Given the description of an element on the screen output the (x, y) to click on. 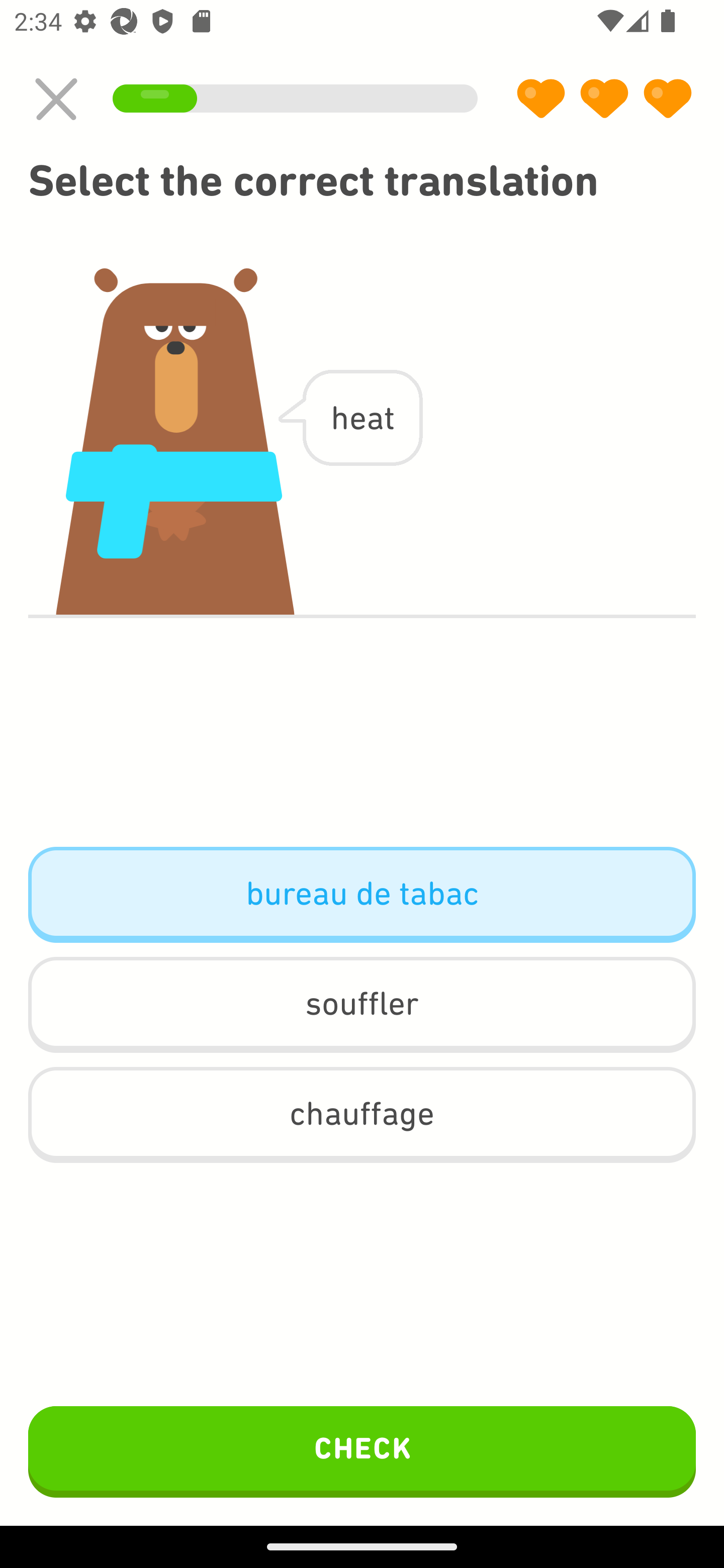
Select the correct translation (361, 180)
bureau de tabac (361, 894)
souffler (361, 1004)
chauffage (361, 1114)
CHECK (361, 1451)
